Given the description of an element on the screen output the (x, y) to click on. 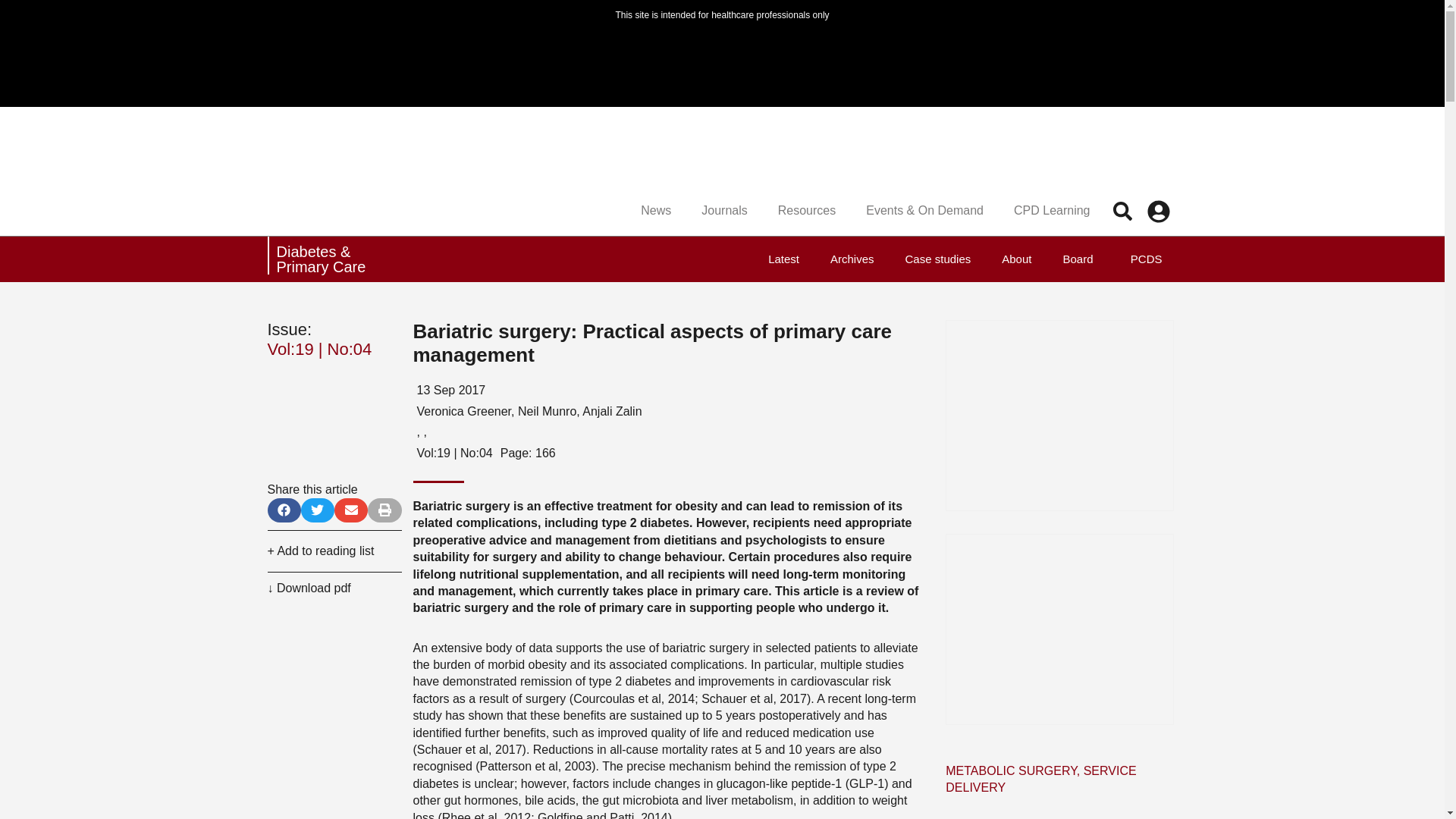
Journals (723, 210)
Archives (852, 258)
Latest (782, 258)
About (1016, 258)
CPD Learning (1051, 210)
Board (1077, 258)
News (655, 210)
Resources (806, 210)
Case studies (938, 258)
  PCDS (1142, 258)
